Given the description of an element on the screen output the (x, y) to click on. 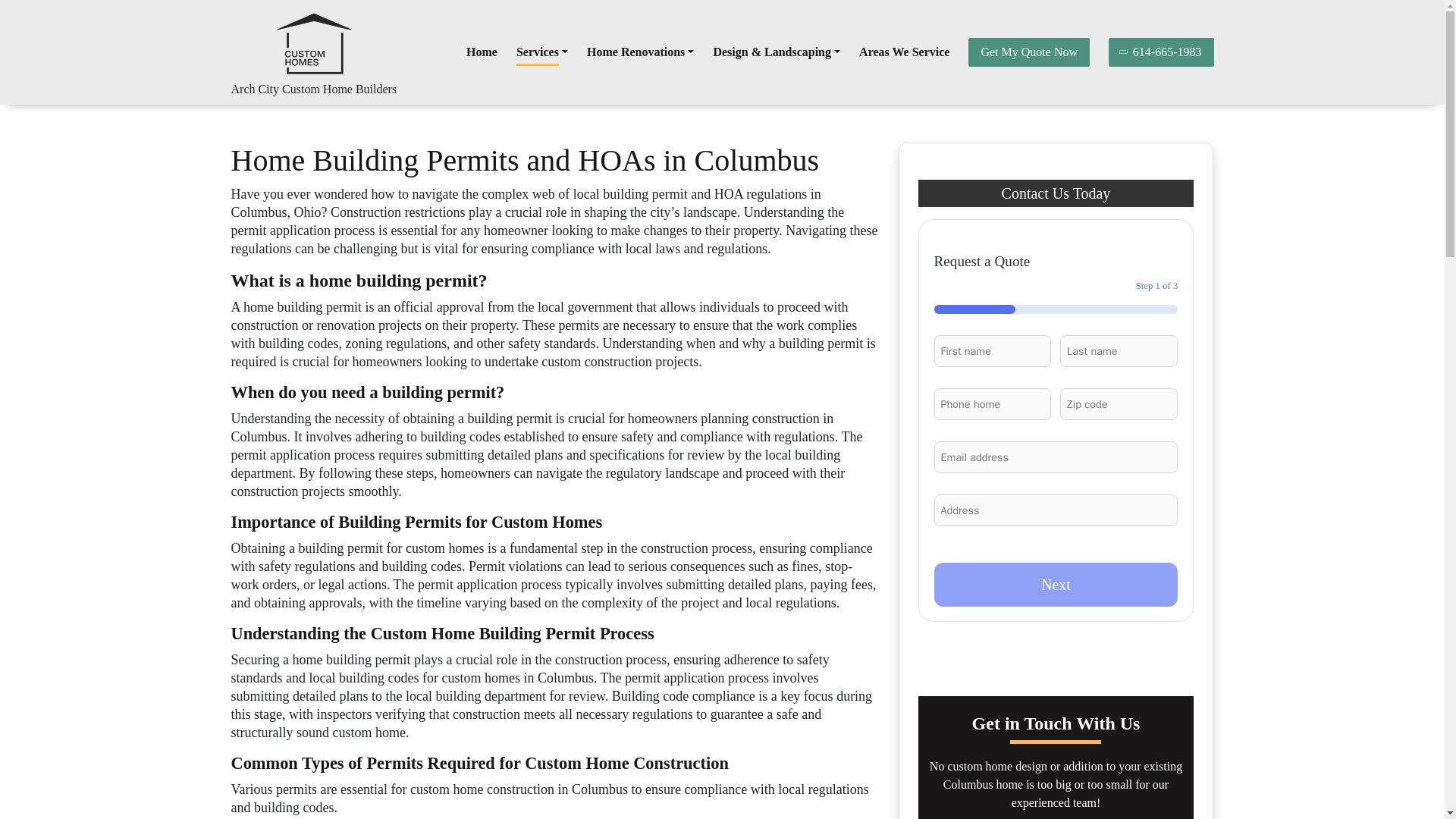
Get My Quote Now (1028, 51)
Home Renovations (640, 51)
Arch City Custom Home Builders (313, 88)
Home Renovations (640, 51)
Areas We Service (904, 51)
614-665-1983 (1161, 51)
Services (541, 51)
Services (541, 51)
Next (1055, 584)
Home (481, 51)
Home (481, 51)
